Given the description of an element on the screen output the (x, y) to click on. 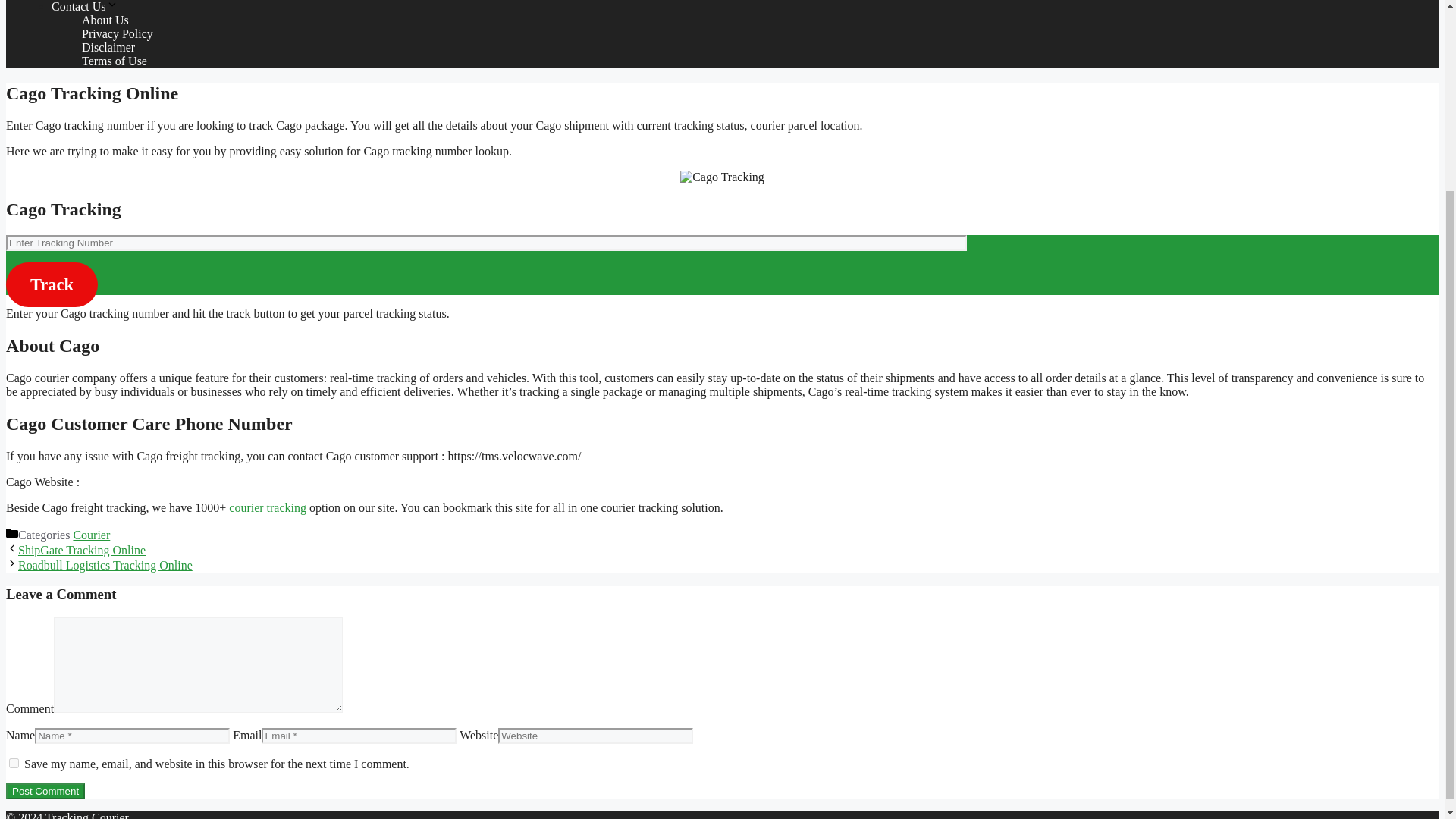
Post Comment (44, 790)
Track (51, 284)
ShipGate Tracking Online (81, 549)
Privacy Policy (116, 33)
Disclaimer (108, 47)
yes (13, 763)
Terms of Use (114, 60)
courier tracking (266, 507)
Courier (91, 534)
Roadbull Logistics Tracking Online (104, 564)
